Given the description of an element on the screen output the (x, y) to click on. 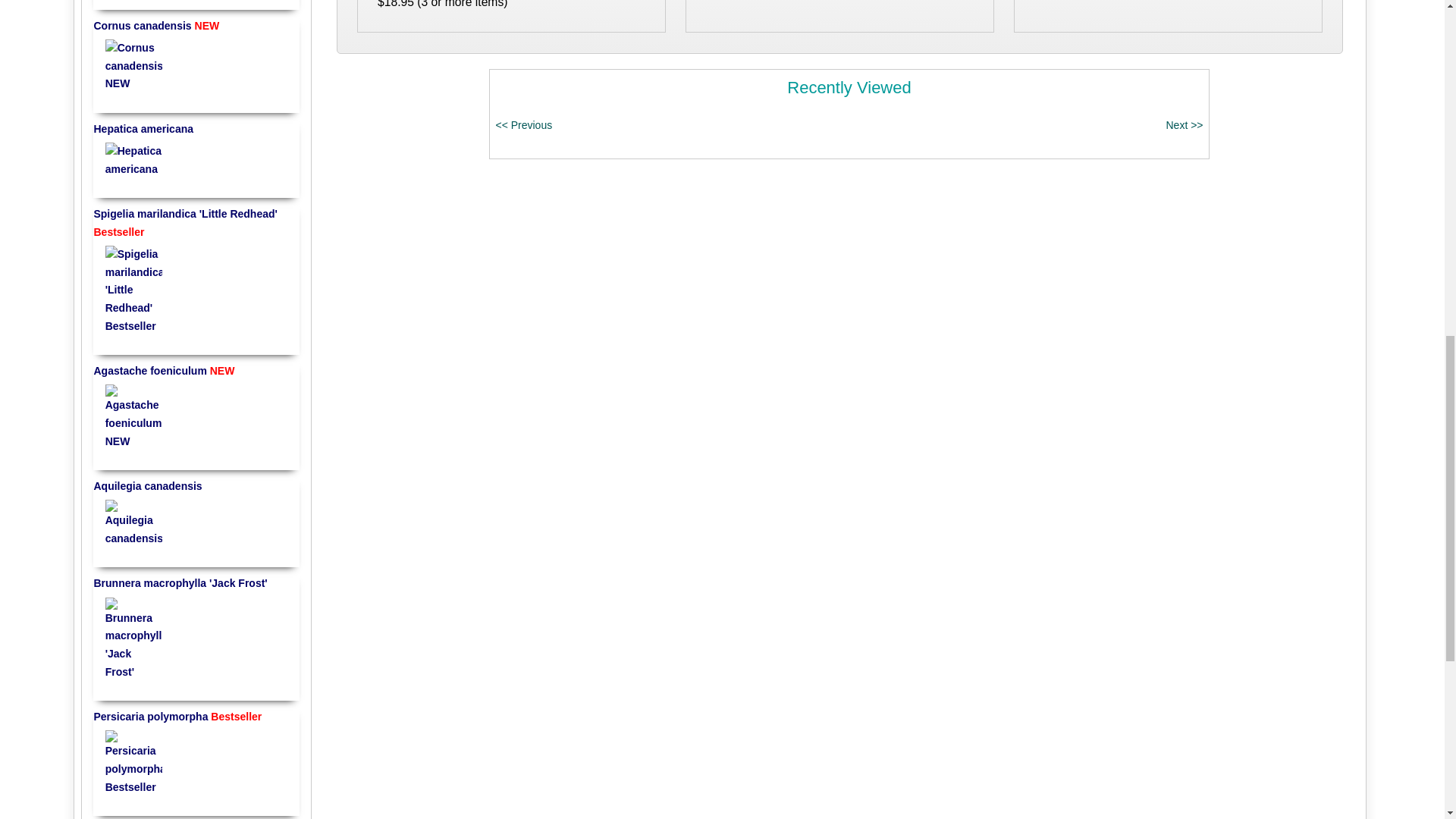
Cornus canadensis    NEW (132, 66)
Aquilegia canadensis (132, 524)
Hepatica americana   (132, 159)
